Given the description of an element on the screen output the (x, y) to click on. 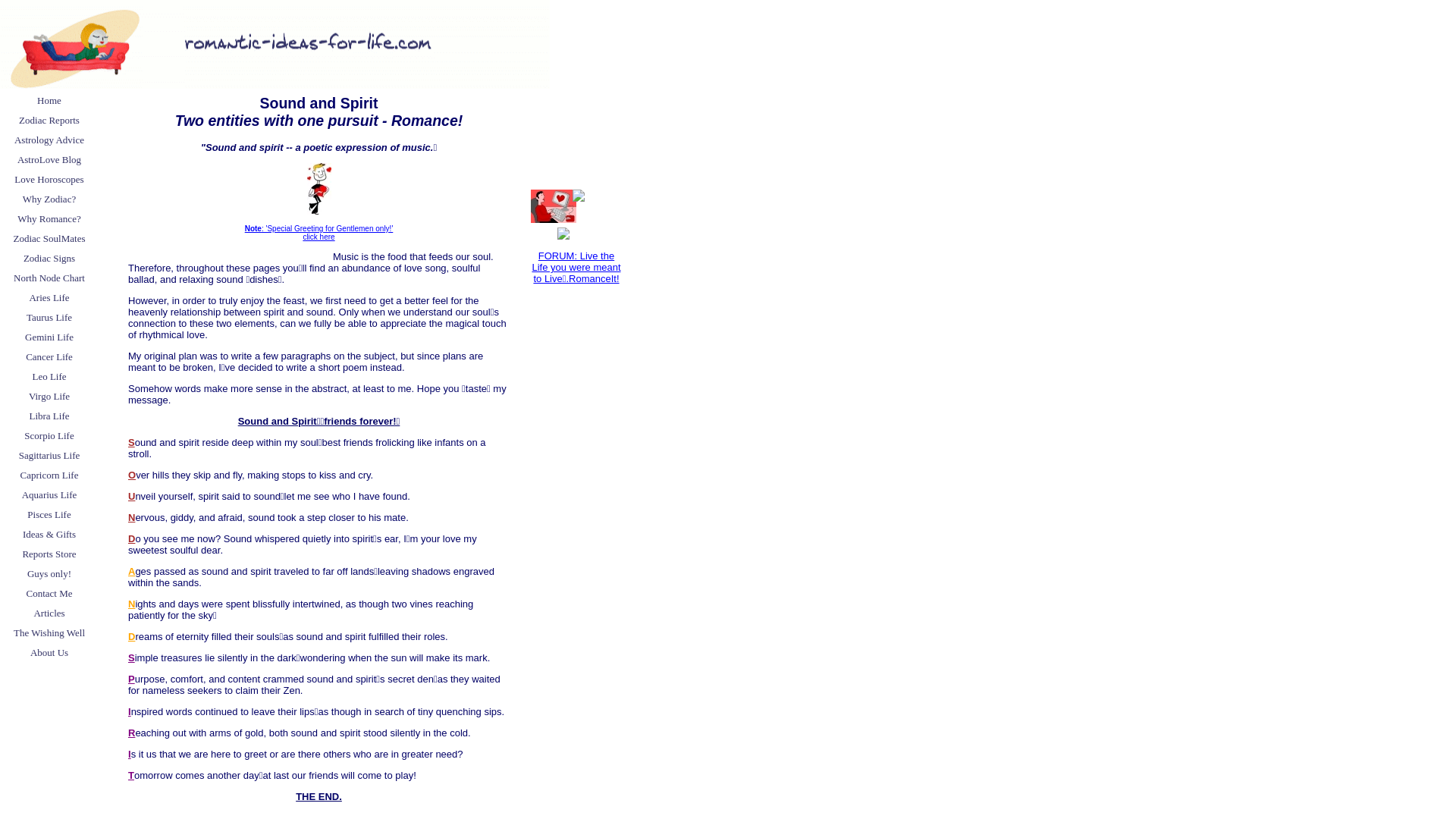
The Wishing Well (49, 632)
Zodiac SoulMates (49, 238)
Home (49, 100)
Zodiac Signs (49, 258)
Pisces Life (49, 514)
Libra Life (49, 415)
Cancer Life (49, 356)
Reports Store (49, 554)
Zodiac Reports (49, 120)
Leo Life (49, 376)
Why Zodiac? (49, 199)
Contact Me (49, 593)
Aries Life (49, 297)
Articles (49, 613)
